Given the description of an element on the screen output the (x, y) to click on. 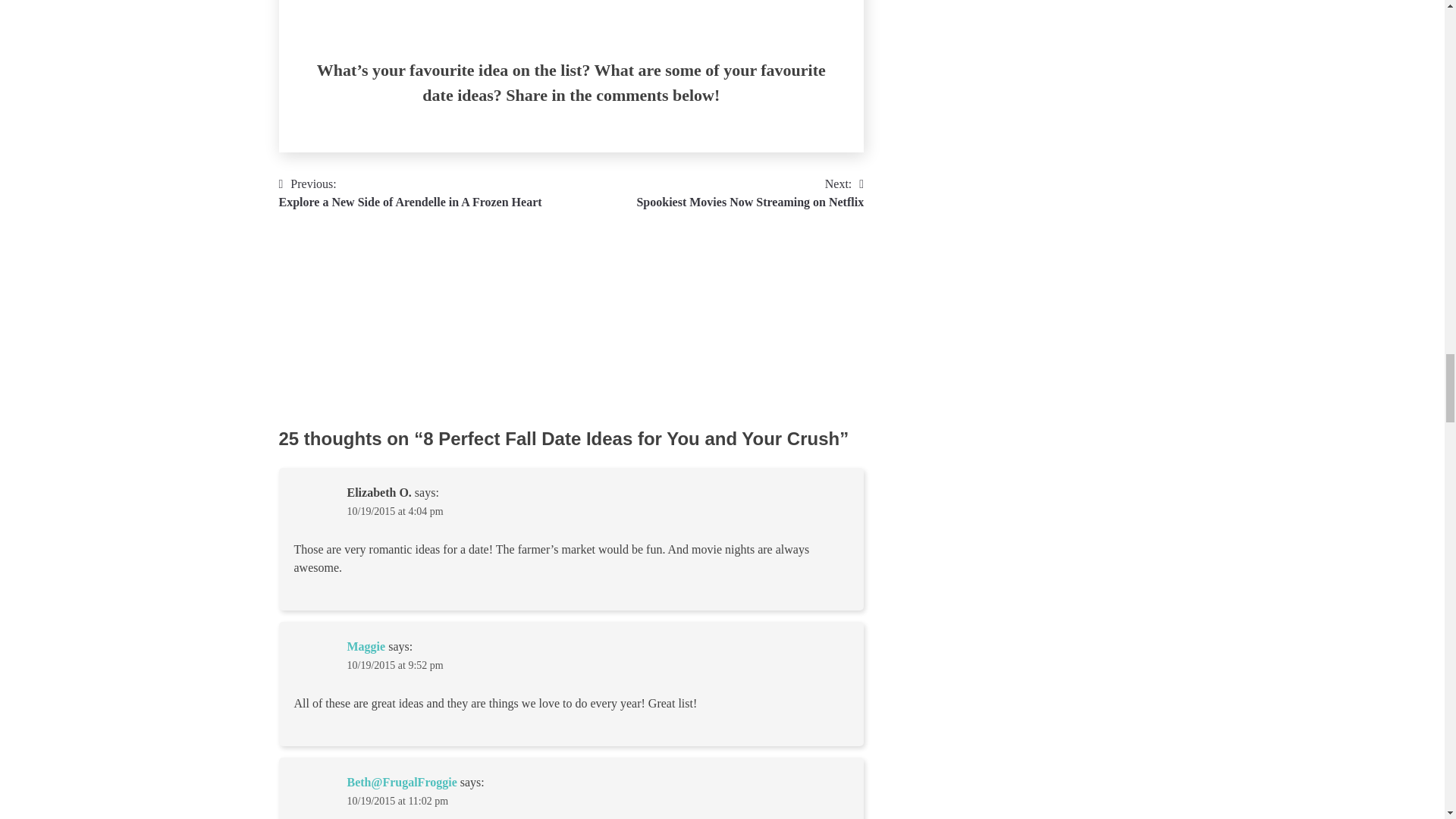
Maggie (366, 645)
